Given the description of an element on the screen output the (x, y) to click on. 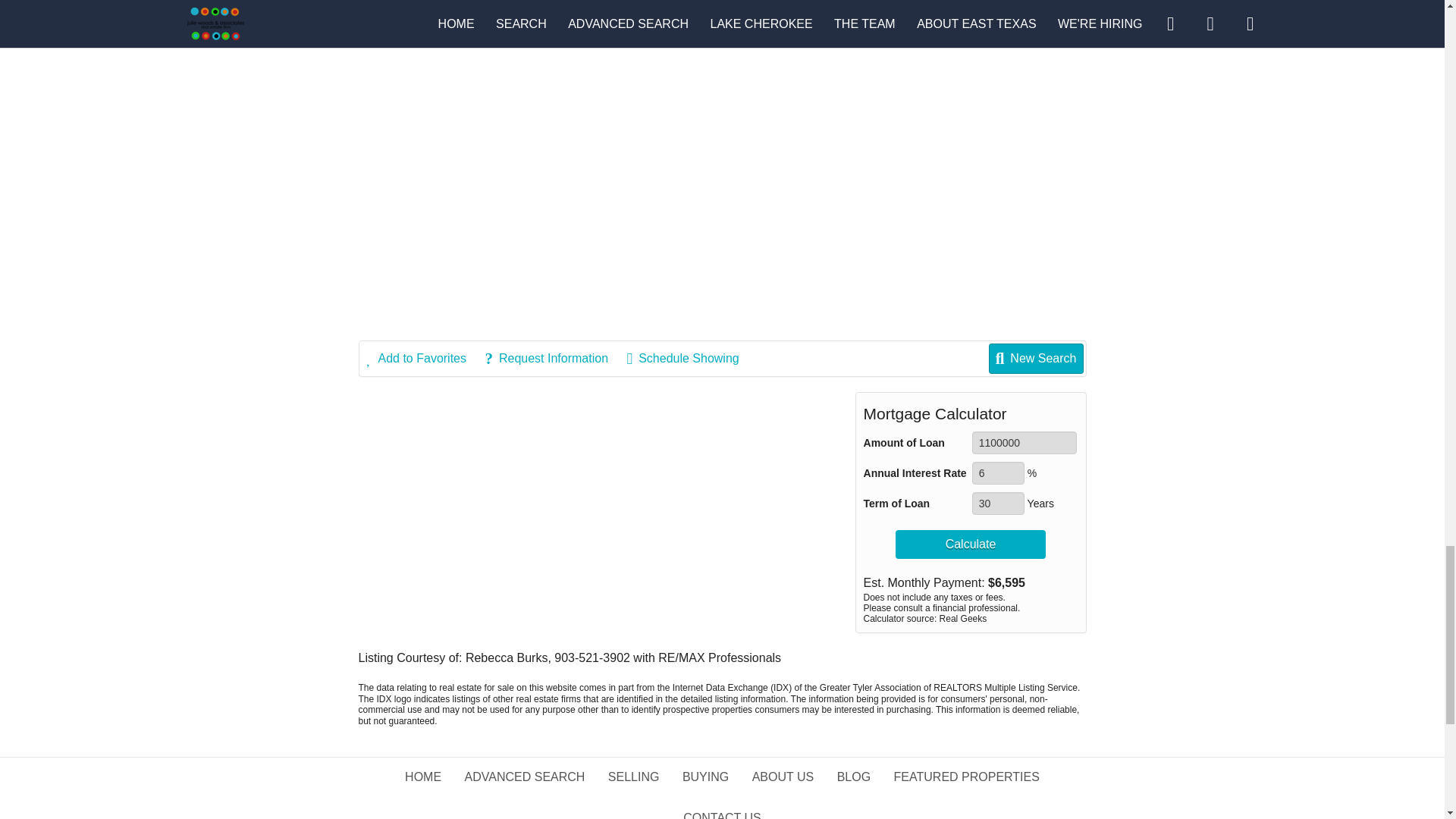
1100000 (1024, 442)
6 (998, 472)
30 (998, 503)
